Given the description of an element on the screen output the (x, y) to click on. 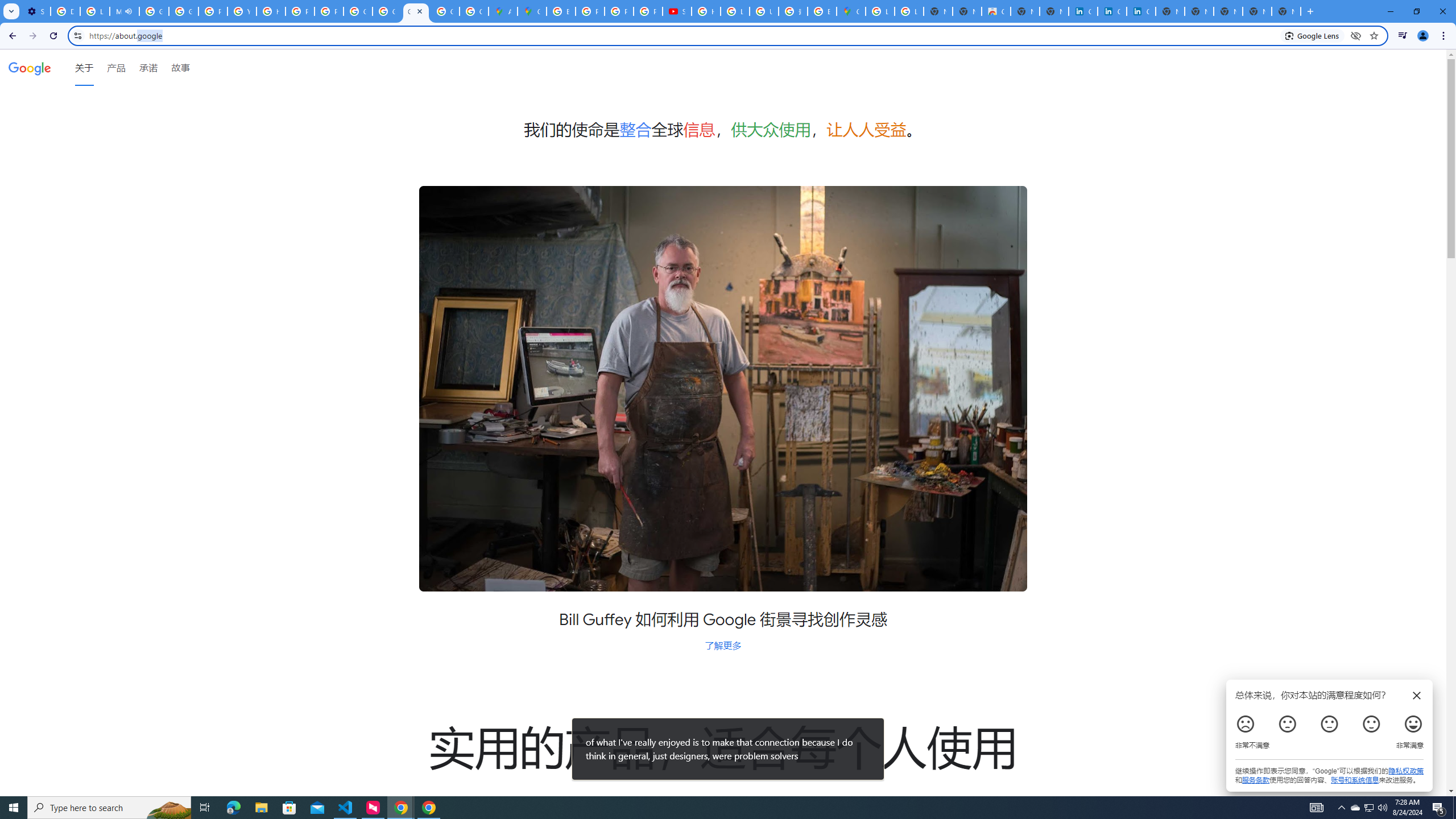
Cookie Policy | LinkedIn (1111, 11)
Privacy Help Center - Policies Help (212, 11)
Settings - Customize profile (35, 11)
Subscriptions - YouTube (677, 11)
Google Maps (850, 11)
How Chrome protects your passwords - Google Chrome Help (705, 11)
Blogger Policies and Guidelines - Transparency Center (560, 11)
New Tab (1286, 11)
